Given the description of an element on the screen output the (x, y) to click on. 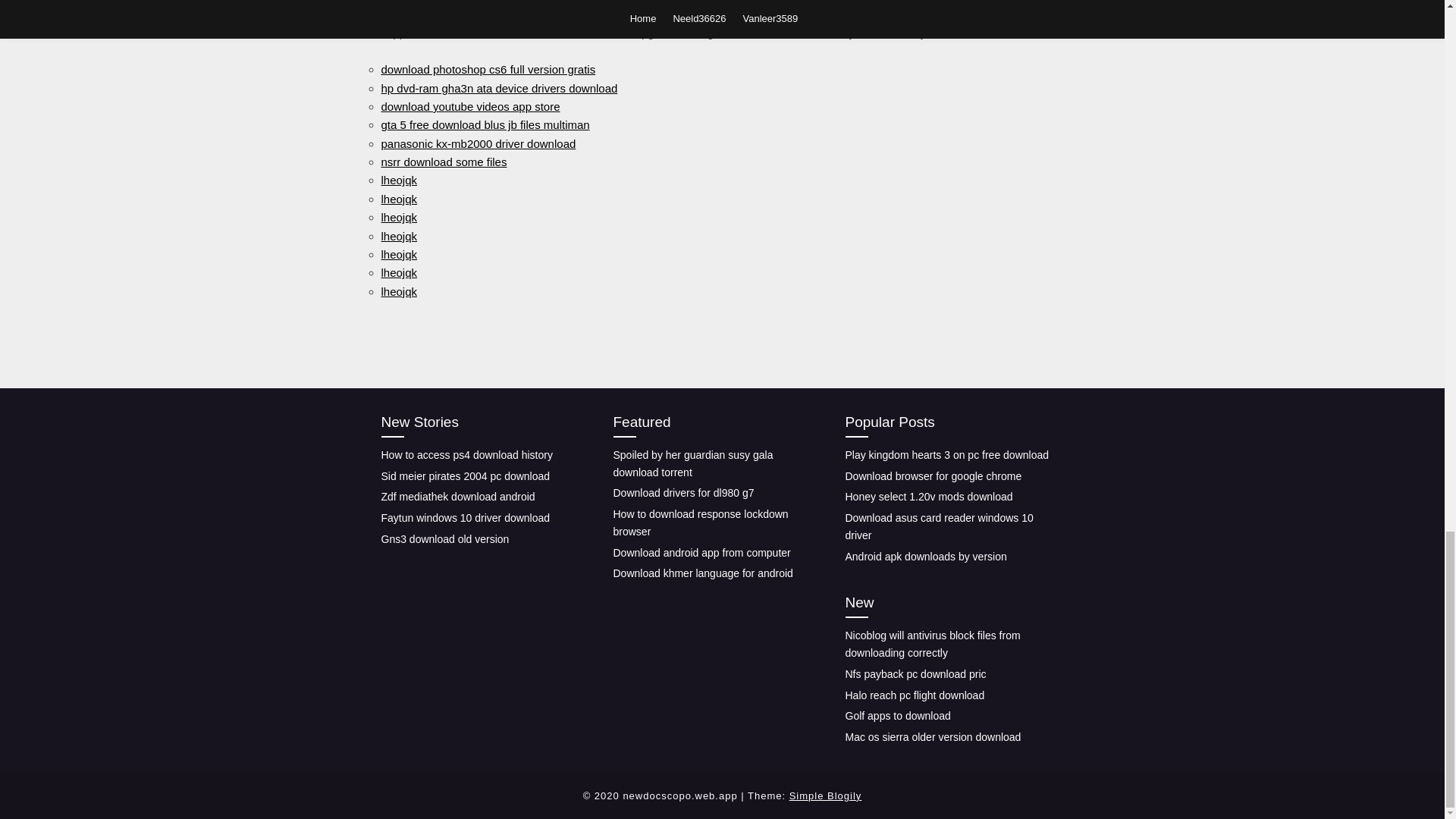
Sid meier pirates 2004 pc download (465, 476)
Download drivers for dl980 g7 (683, 492)
Nfs payback pc download pric (914, 674)
lheojqk (398, 272)
How to access ps4 download history (465, 454)
Android apk downloads by version (925, 556)
Download khmer language for android (702, 573)
Honey select 1.20v mods download (927, 496)
lheojqk (398, 254)
Spoiled by her guardian susy gala download torrent (692, 463)
